Given the description of an element on the screen output the (x, y) to click on. 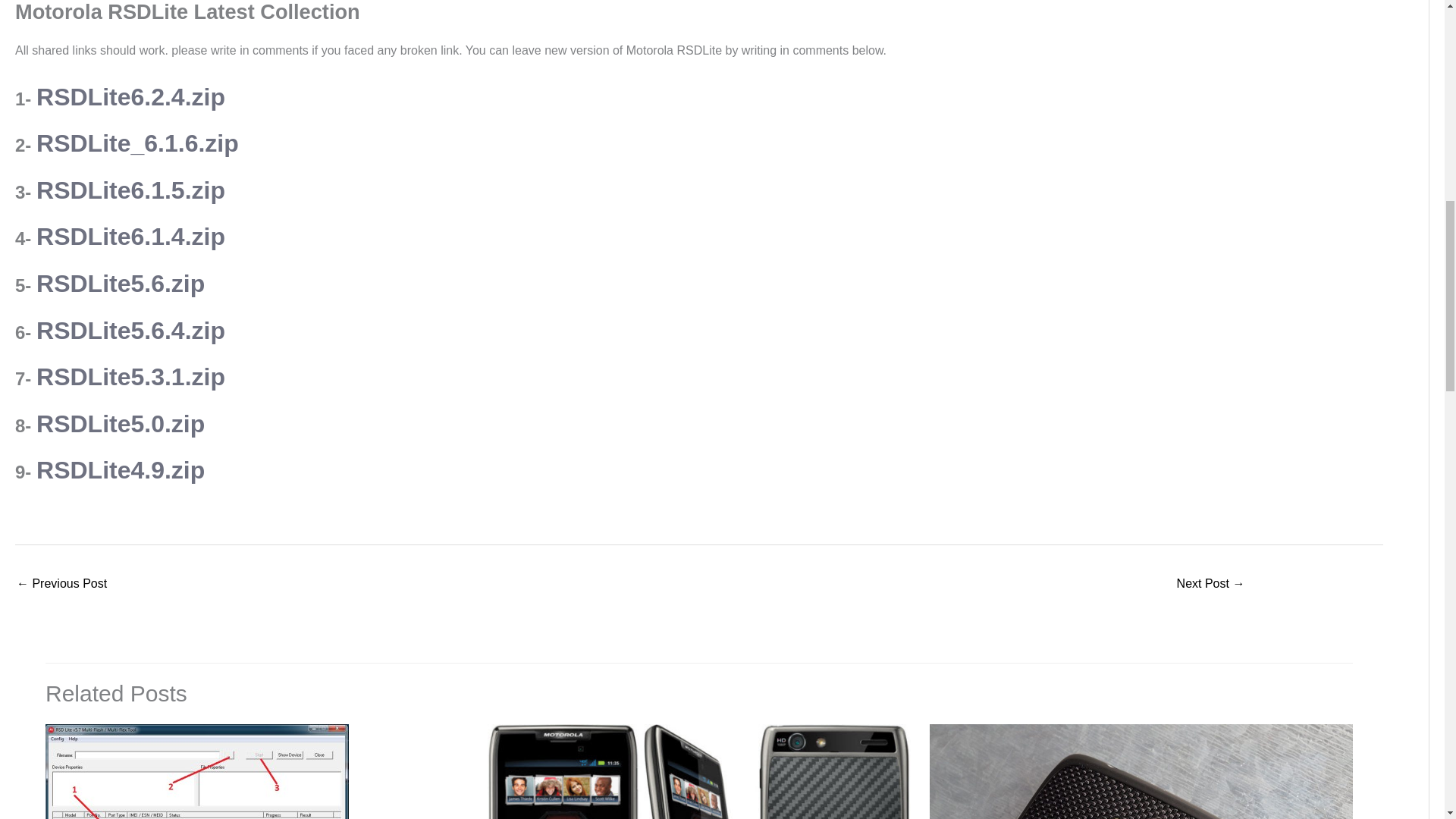
Most Common Android Smartphone Software Faults (61, 584)
Data Recovery From Dead or Bricked Android Cellphone (1210, 584)
RSDLite4.9.zip (120, 470)
RSDLite6.1.5.zip (130, 189)
RSDLite5.0.zip (120, 423)
RSDLite6.1.4.zip (130, 236)
RSDLite5.3.1.zip (130, 376)
RSDLite5.6.zip (120, 283)
RSDLite5.6.4.zip (130, 329)
RSDLite6.2.4.zip (130, 96)
